Given the description of an element on the screen output the (x, y) to click on. 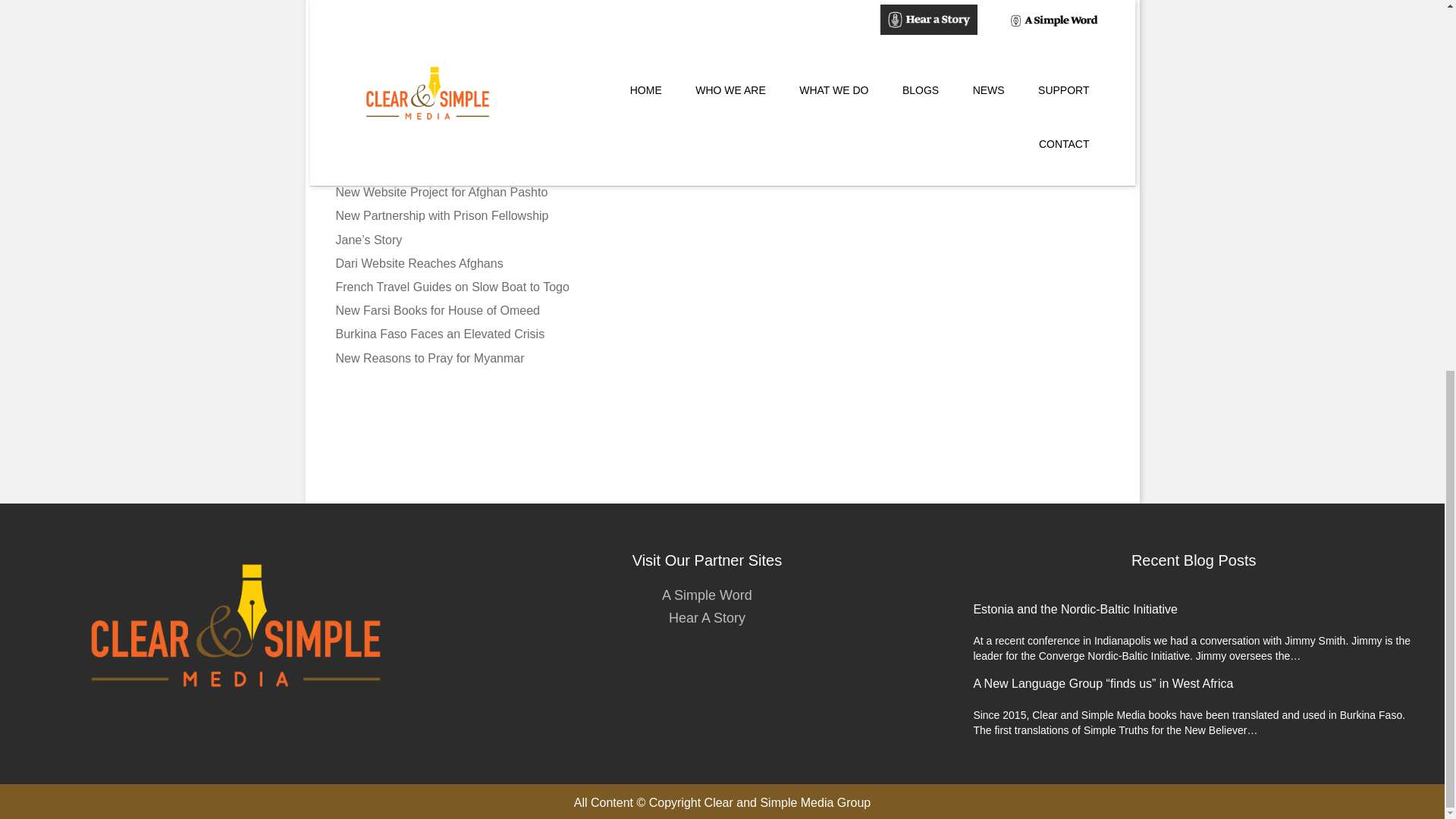
Hear A Story (706, 617)
Type and press Enter to search. (986, 96)
A Simple Word (707, 595)
French Travel Guides on Slow Boat to Togo (451, 286)
Estonia and the Nordic-Baltic Initiative (436, 144)
New Farsi Books for House of Omeed (436, 309)
Estonia and the Nordic-Baltic Initiative (1074, 608)
New Partnership with Prison Fellowship (441, 215)
Dari Website Reaches Afghans (418, 263)
New Website Project for Afghan Pashto (440, 192)
